Given the description of an element on the screen output the (x, y) to click on. 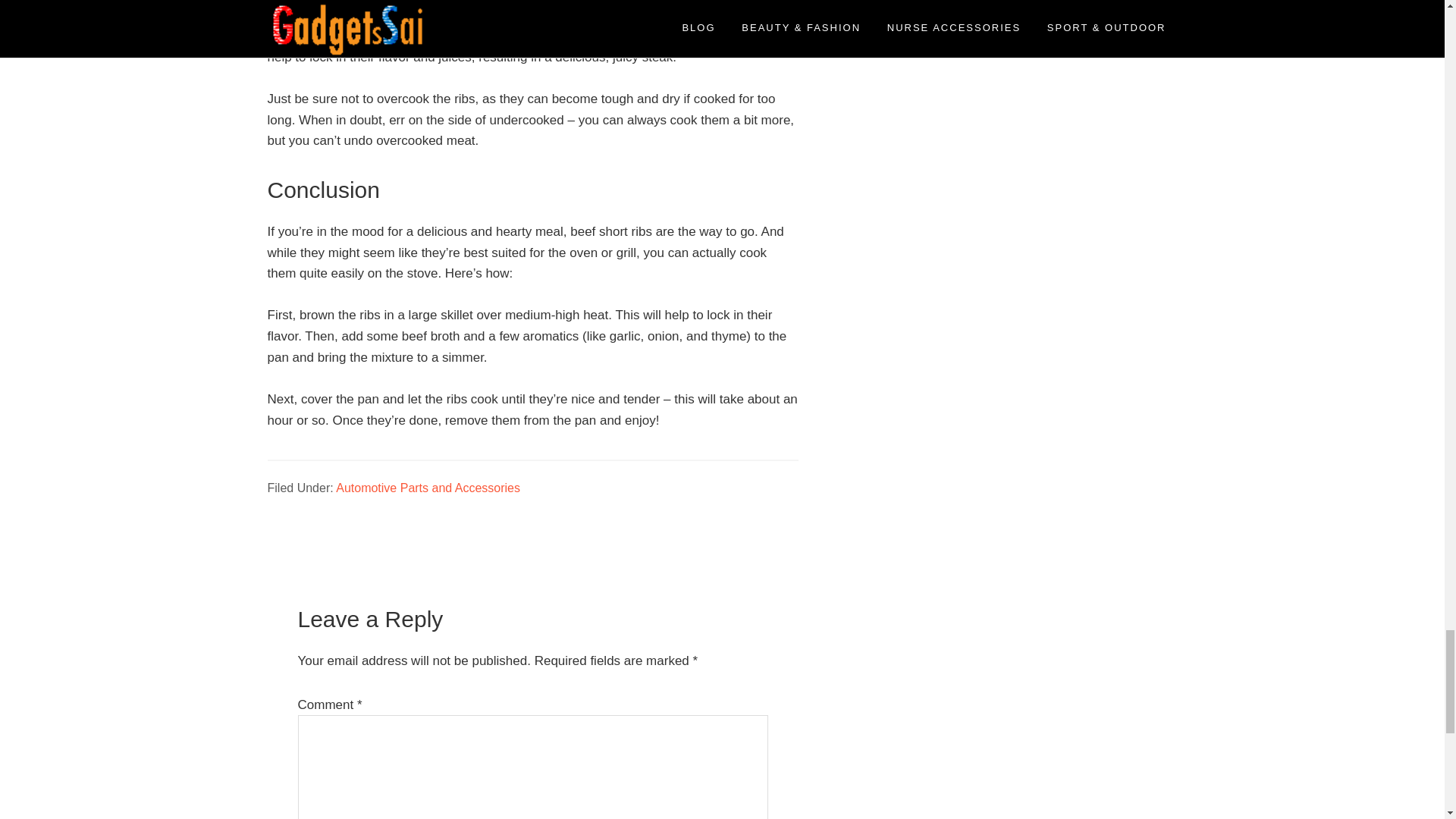
Automotive Parts and Accessories (427, 487)
